Given the description of an element on the screen output the (x, y) to click on. 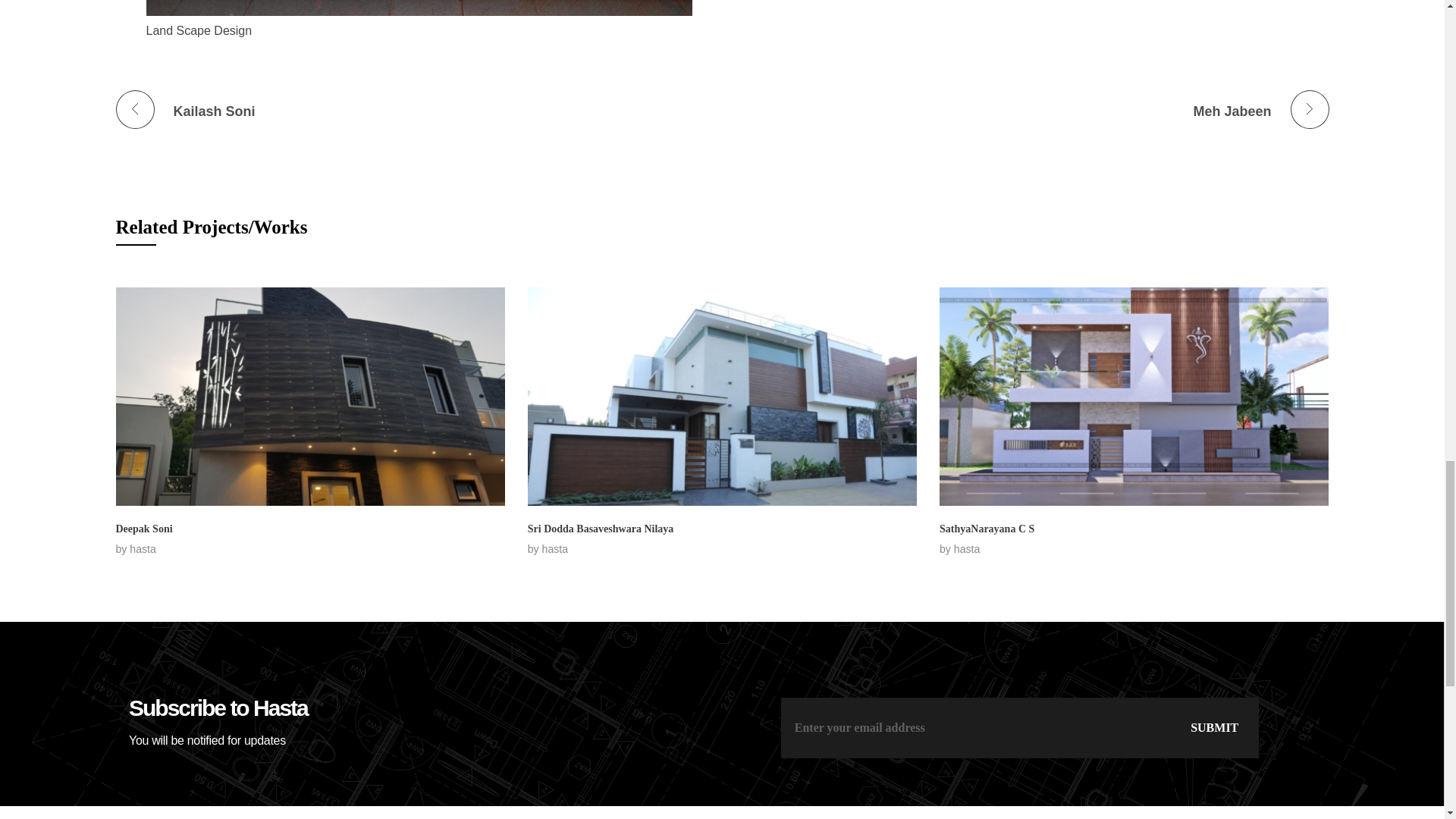
hasta (554, 548)
Deepak Soni (143, 528)
hasta (142, 548)
Submit (1212, 727)
View all posts by hasta (554, 548)
SathyaNarayana C S (986, 528)
View all posts by hasta (966, 548)
Submit (1212, 727)
hasta (412, 102)
